Given the description of an element on the screen output the (x, y) to click on. 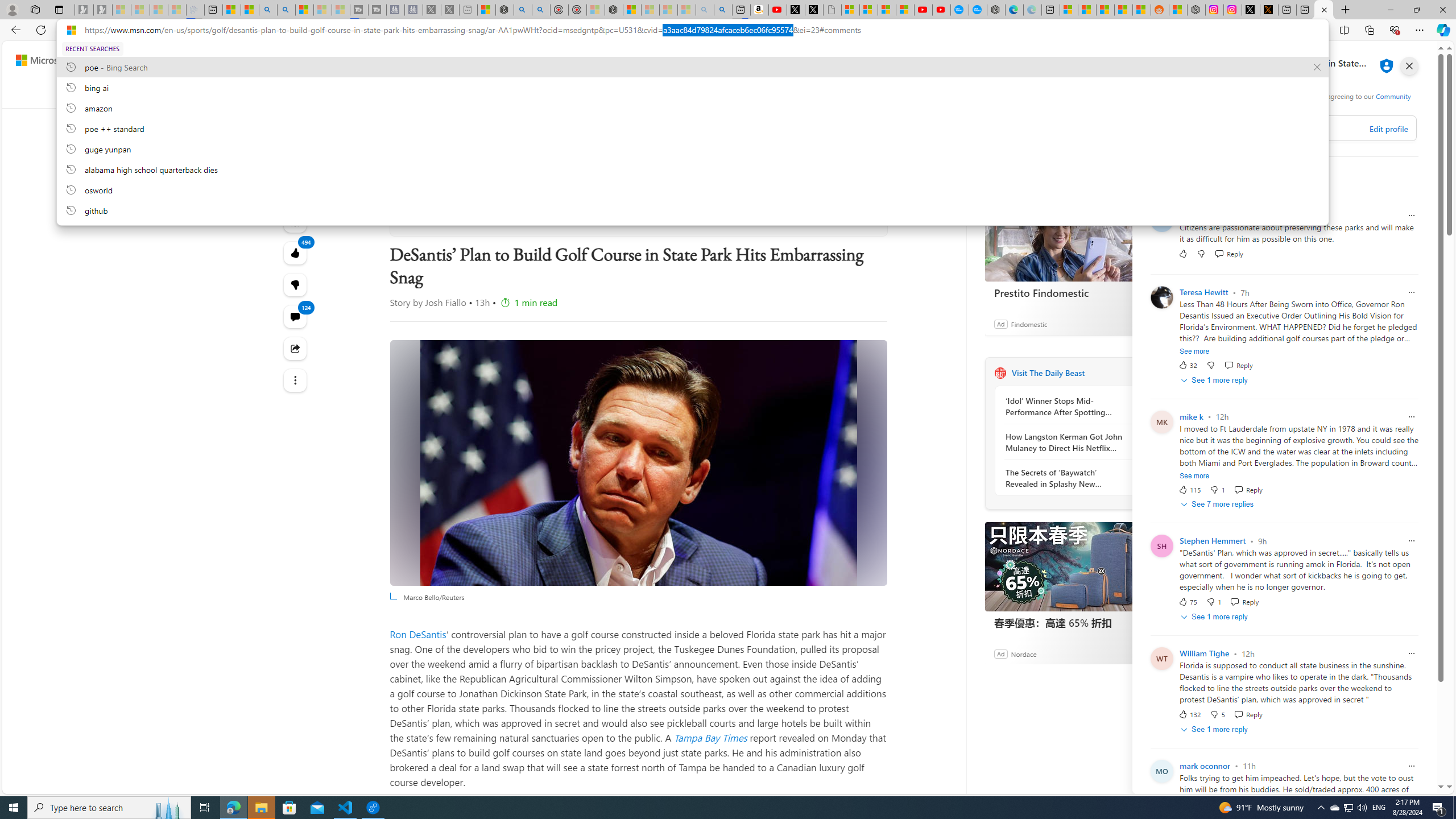
Cricket (707, 92)
marilyn westhoff (1209, 215)
poe ++ standard - Search (540, 9)
Share this story (295, 348)
close (1409, 65)
Visit The Daily Beast website (1140, 372)
Listen to this article (295, 220)
Streaming Coverage | T3 - Sleeping (358, 9)
Nordace - Nordace Siena Is Not An Ordinary Backpack (613, 9)
Stephen Hemmert (1212, 540)
